Given the description of an element on the screen output the (x, y) to click on. 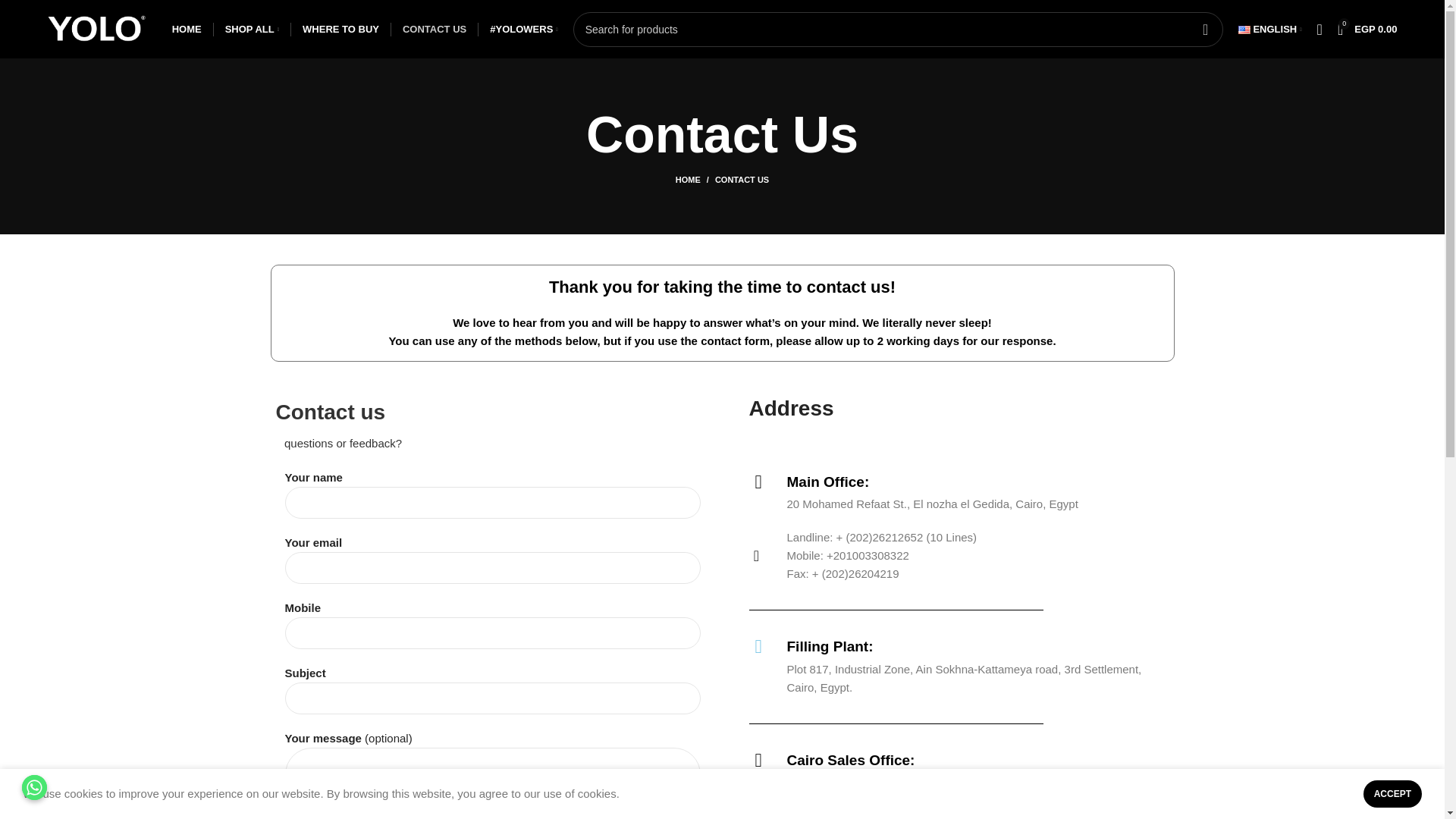
SHOP ALL (252, 28)
Log in (1197, 274)
SEARCH (1205, 29)
CONTACT US (434, 28)
ENGLISH (1270, 28)
Shopping cart (1367, 28)
WHERE TO BUY (340, 28)
Search for products (898, 29)
HOME (186, 28)
